Given the description of an element on the screen output the (x, y) to click on. 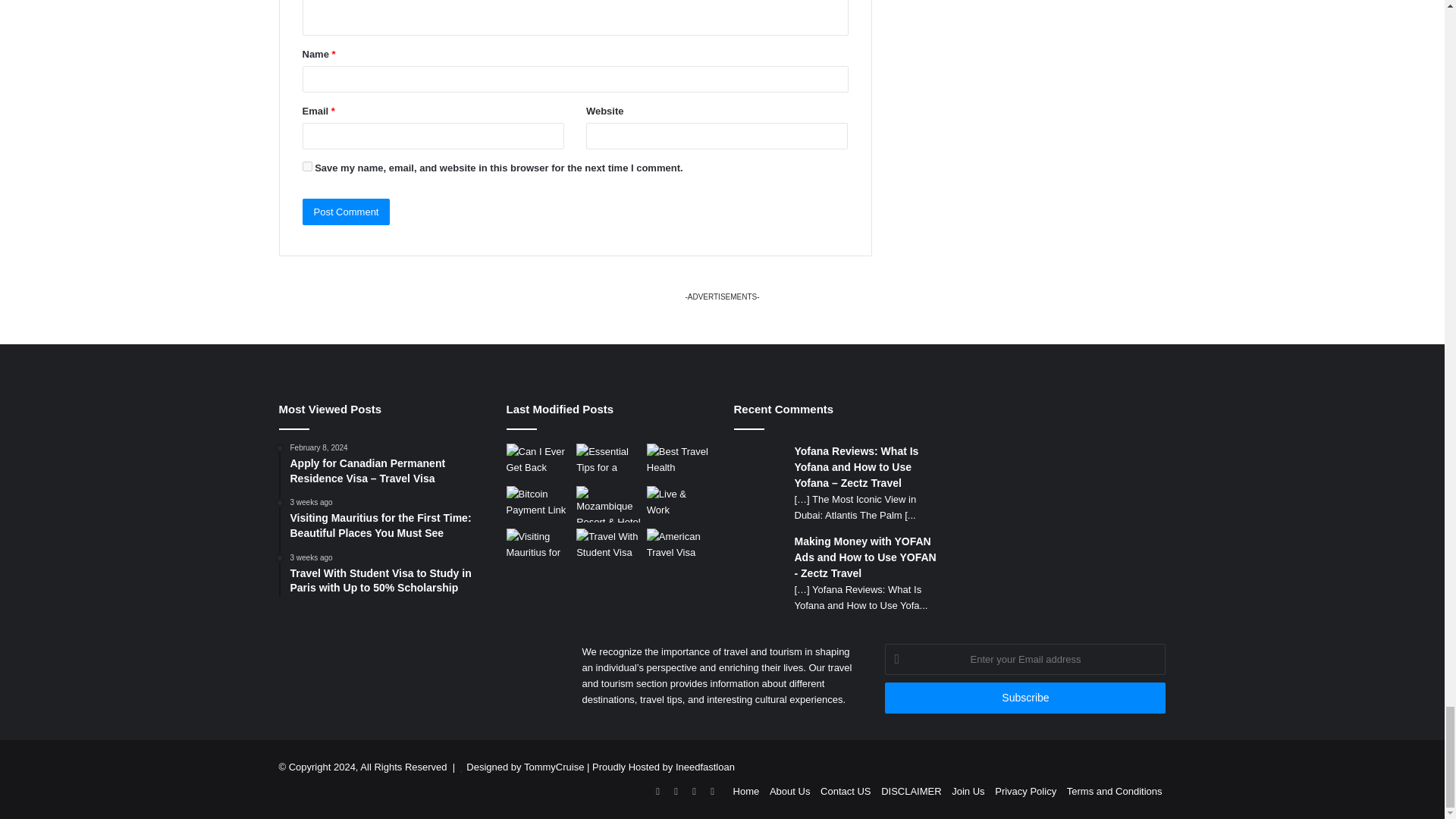
Subscribe (1025, 697)
Post Comment (345, 212)
yes (306, 166)
